Given the description of an element on the screen output the (x, y) to click on. 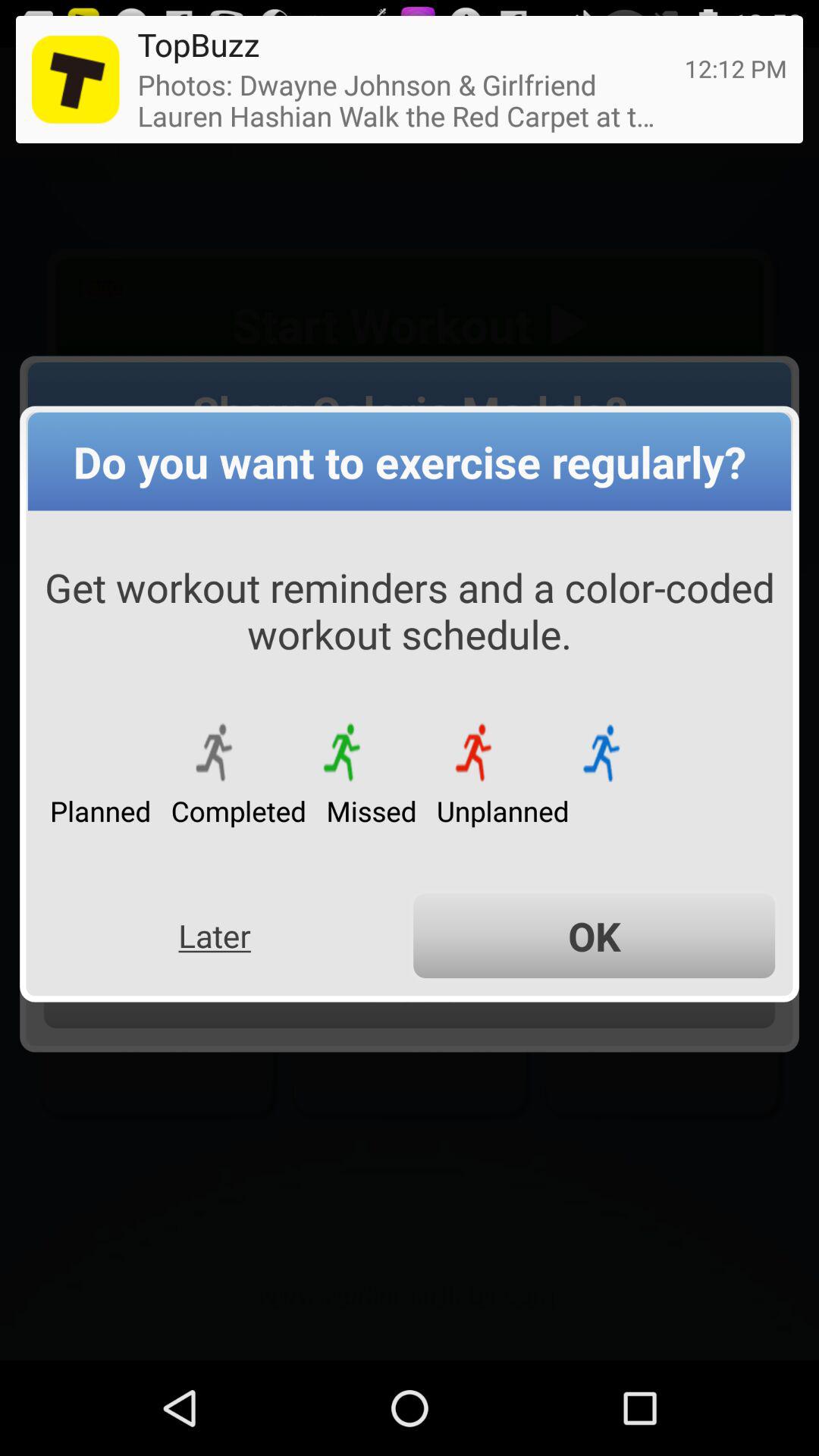
scroll until the ok (594, 935)
